Given the description of an element on the screen output the (x, y) to click on. 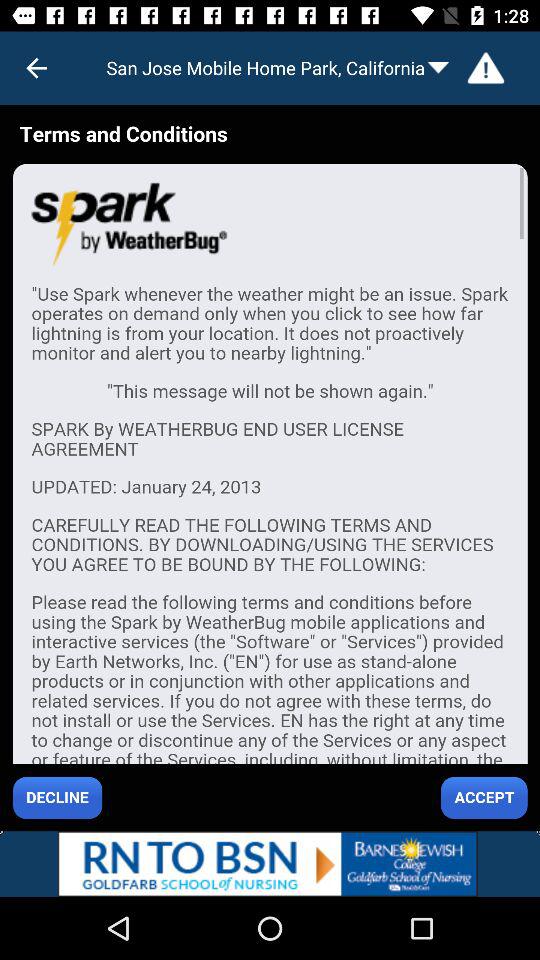
open advertisement (270, 864)
